Given the description of an element on the screen output the (x, y) to click on. 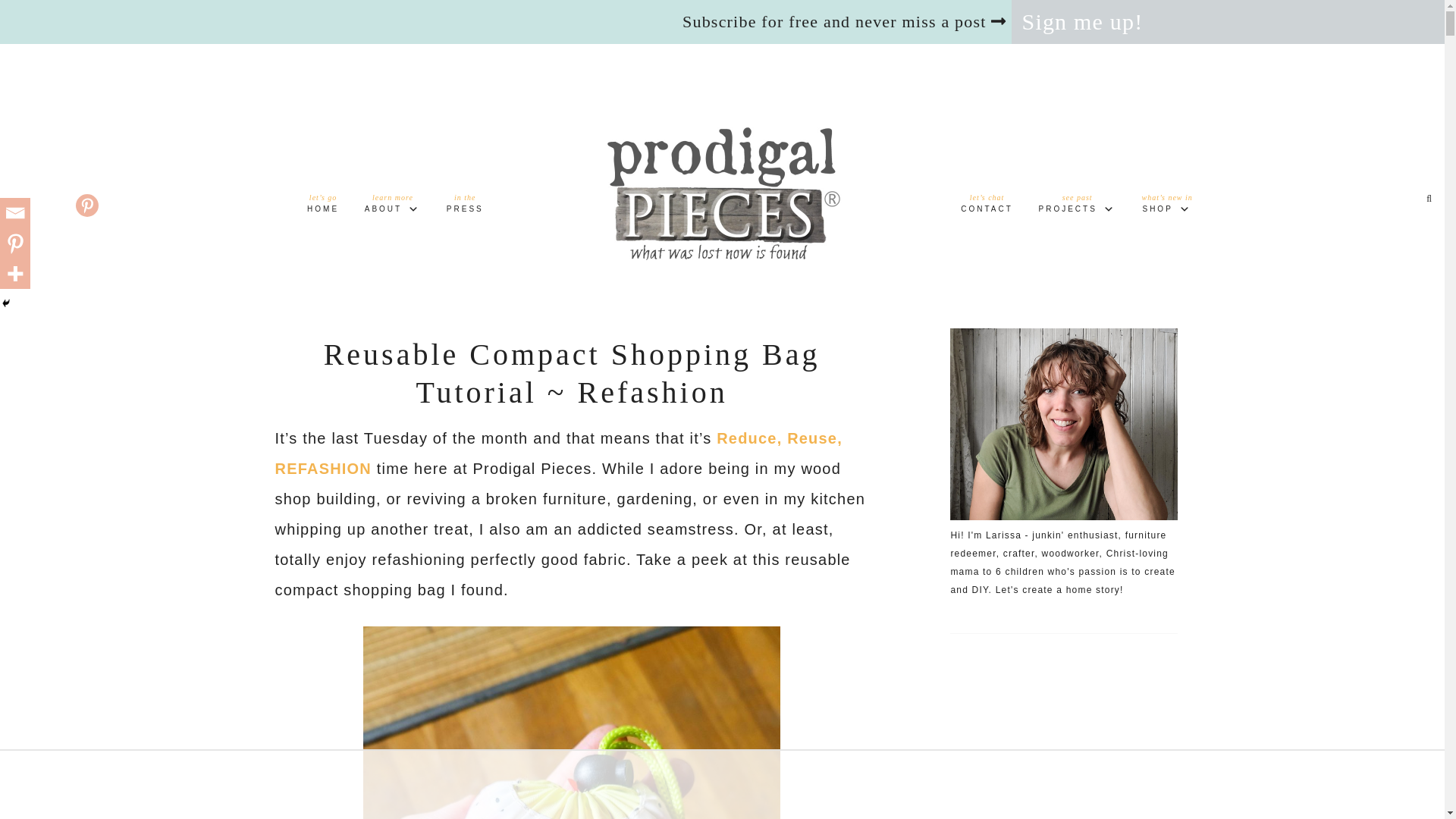
Prodigal Pieces (1076, 205)
Reduce, Reuse, REFASHION (465, 205)
Pinterest (722, 193)
Sign me up! (558, 452)
